Given the description of an element on the screen output the (x, y) to click on. 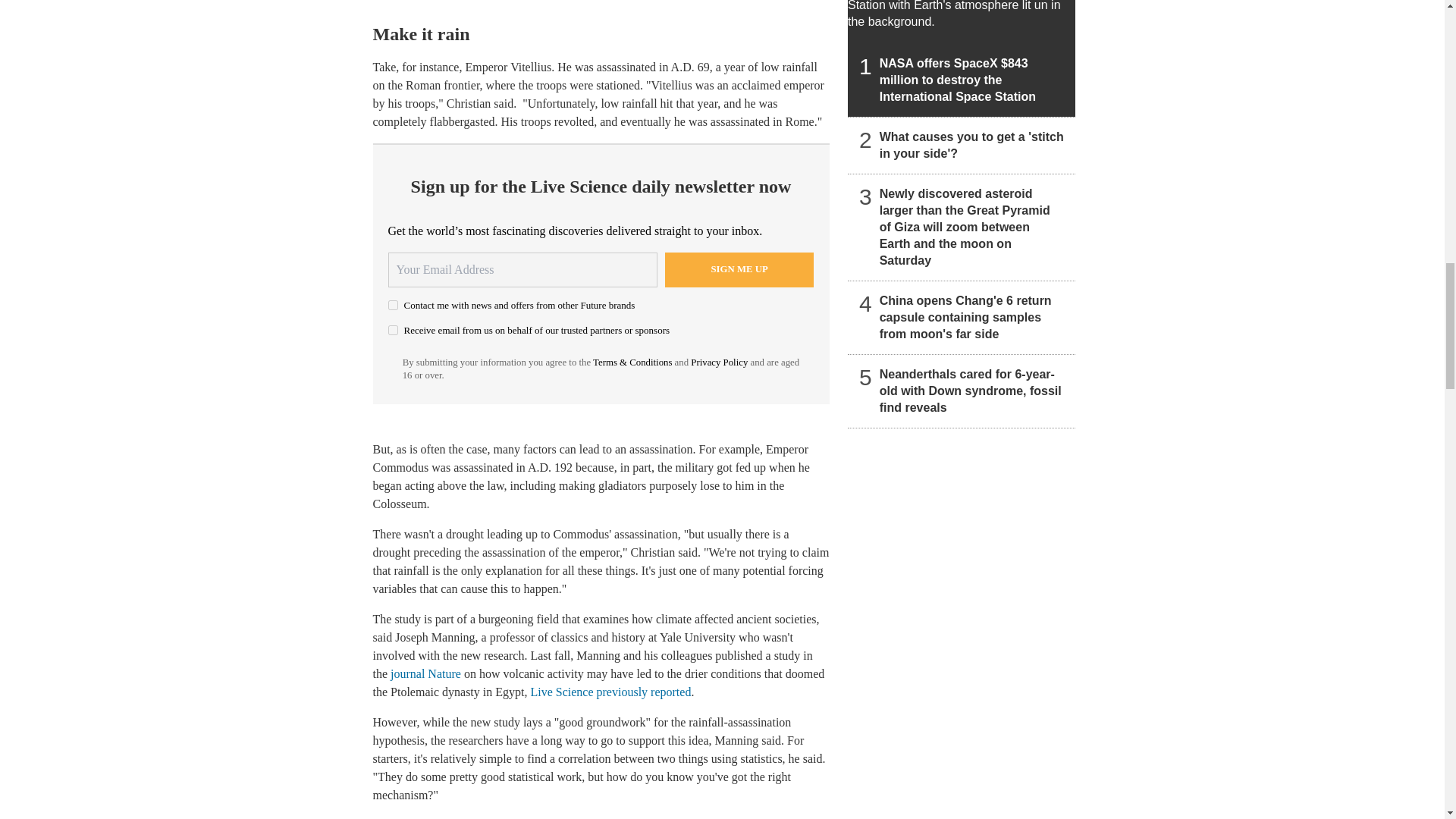
on (392, 329)
on (392, 305)
Sign me up (739, 269)
